Given the description of an element on the screen output the (x, y) to click on. 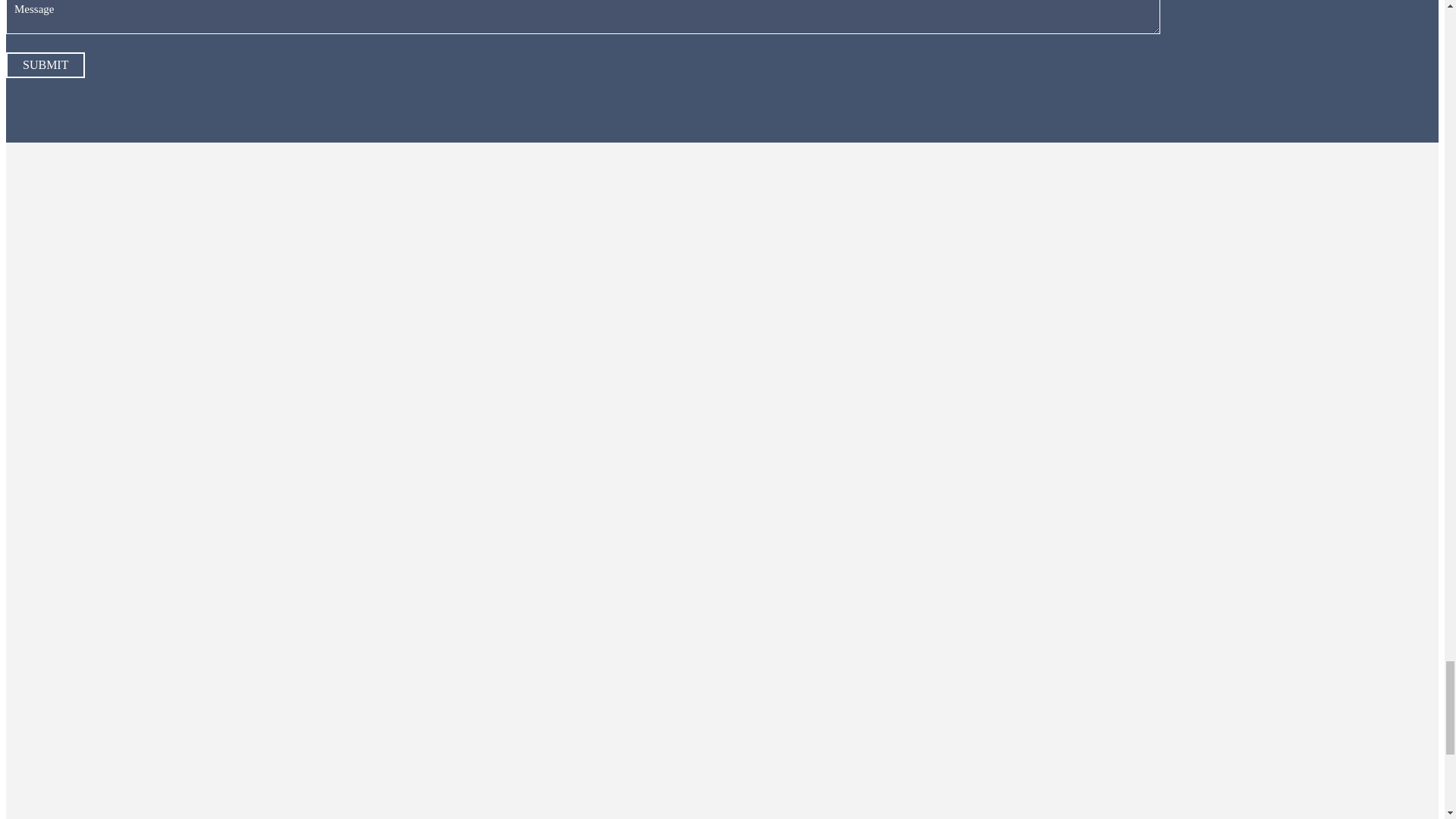
SUBMIT (44, 64)
SUBMIT (44, 64)
